Given the description of an element on the screen output the (x, y) to click on. 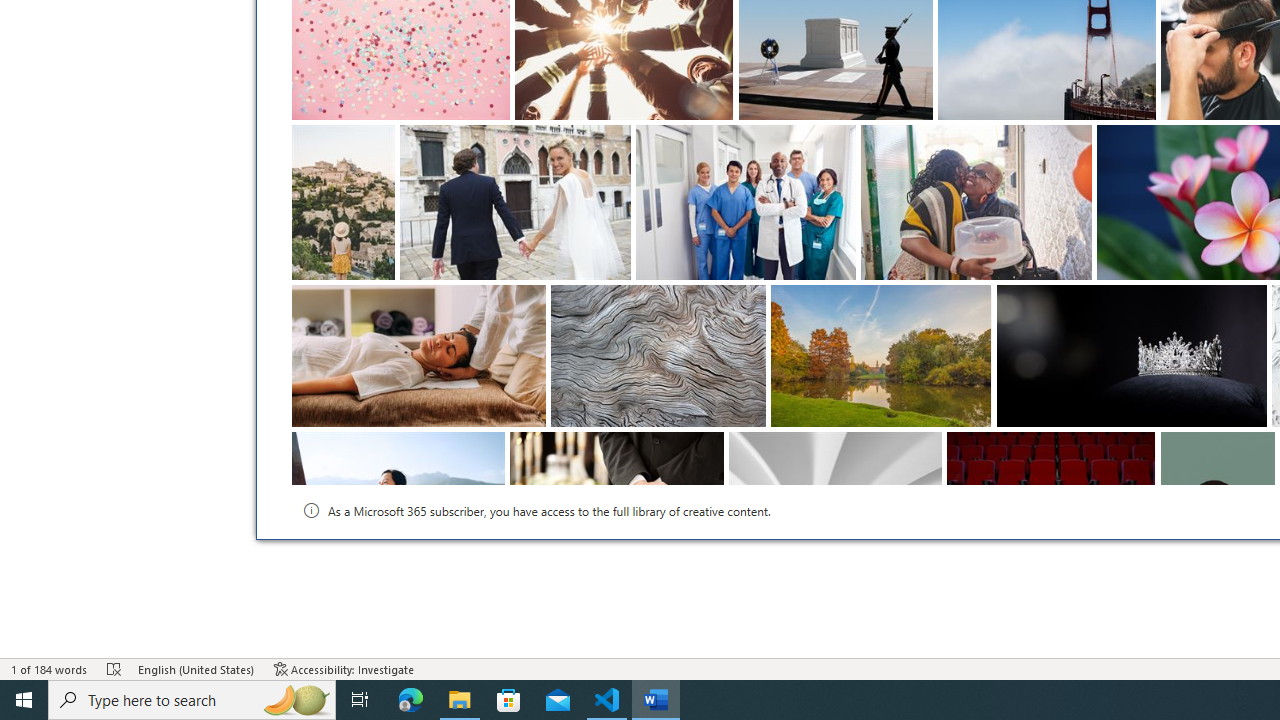
Microsoft Edge (411, 699)
Start (24, 699)
Task View (359, 699)
Word - 1 running window (656, 699)
Microsoft Store (509, 699)
File Explorer - 1 running window (460, 699)
Accessibility Checker Accessibility: Investigate (344, 668)
